Given the description of an element on the screen output the (x, y) to click on. 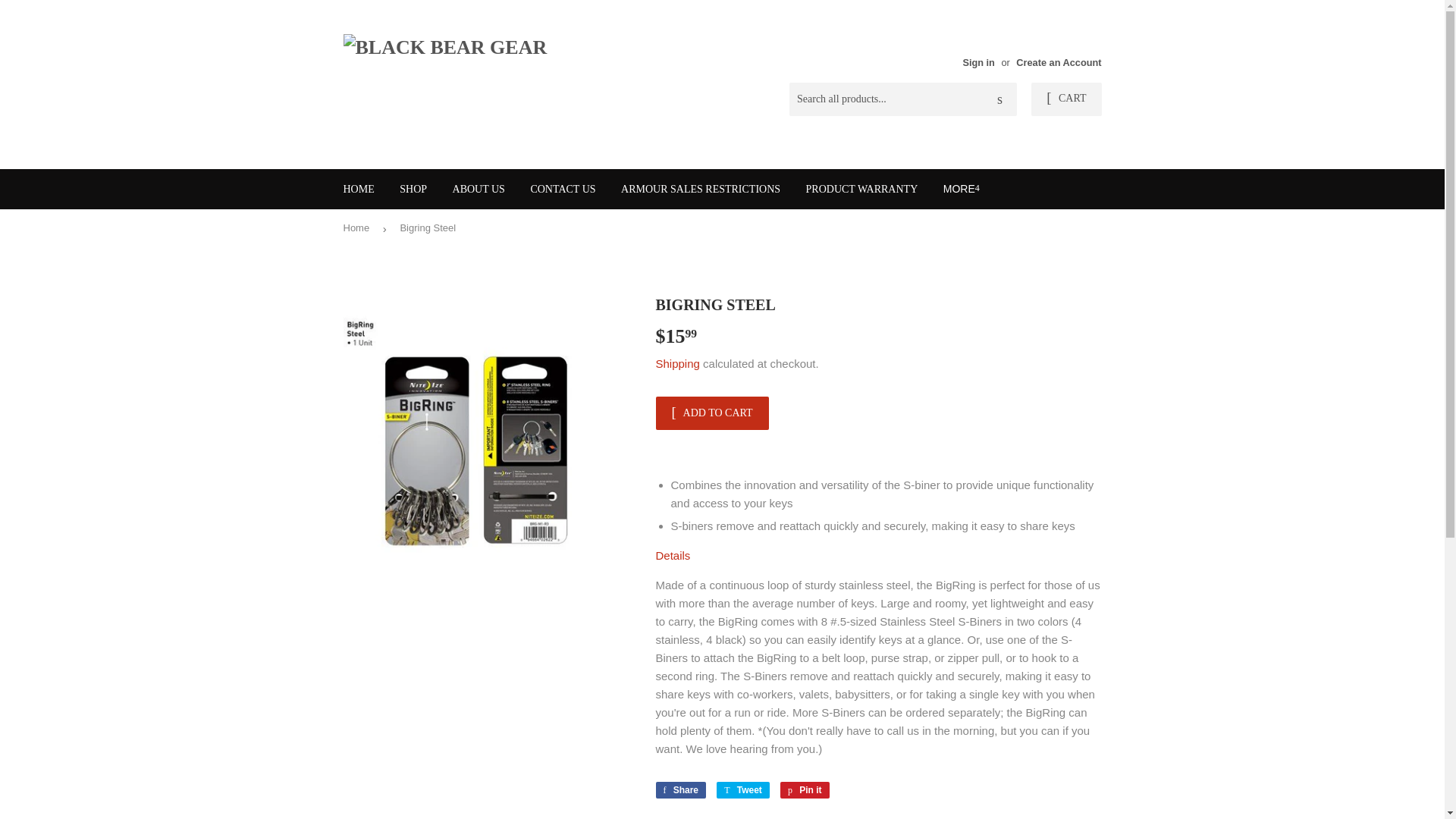
ADD TO CART (711, 412)
Create an Account (1058, 61)
Search (999, 100)
Tweet on Twitter (743, 790)
ARMOUR SALES RESTRICTIONS (701, 189)
CONTACT US (562, 189)
Shipping (676, 363)
SHOP (413, 189)
Home (358, 228)
MORE (961, 188)
Pin on Pinterest (804, 790)
CART (1065, 99)
Details (672, 554)
Share on Facebook (680, 790)
